Given the description of an element on the screen output the (x, y) to click on. 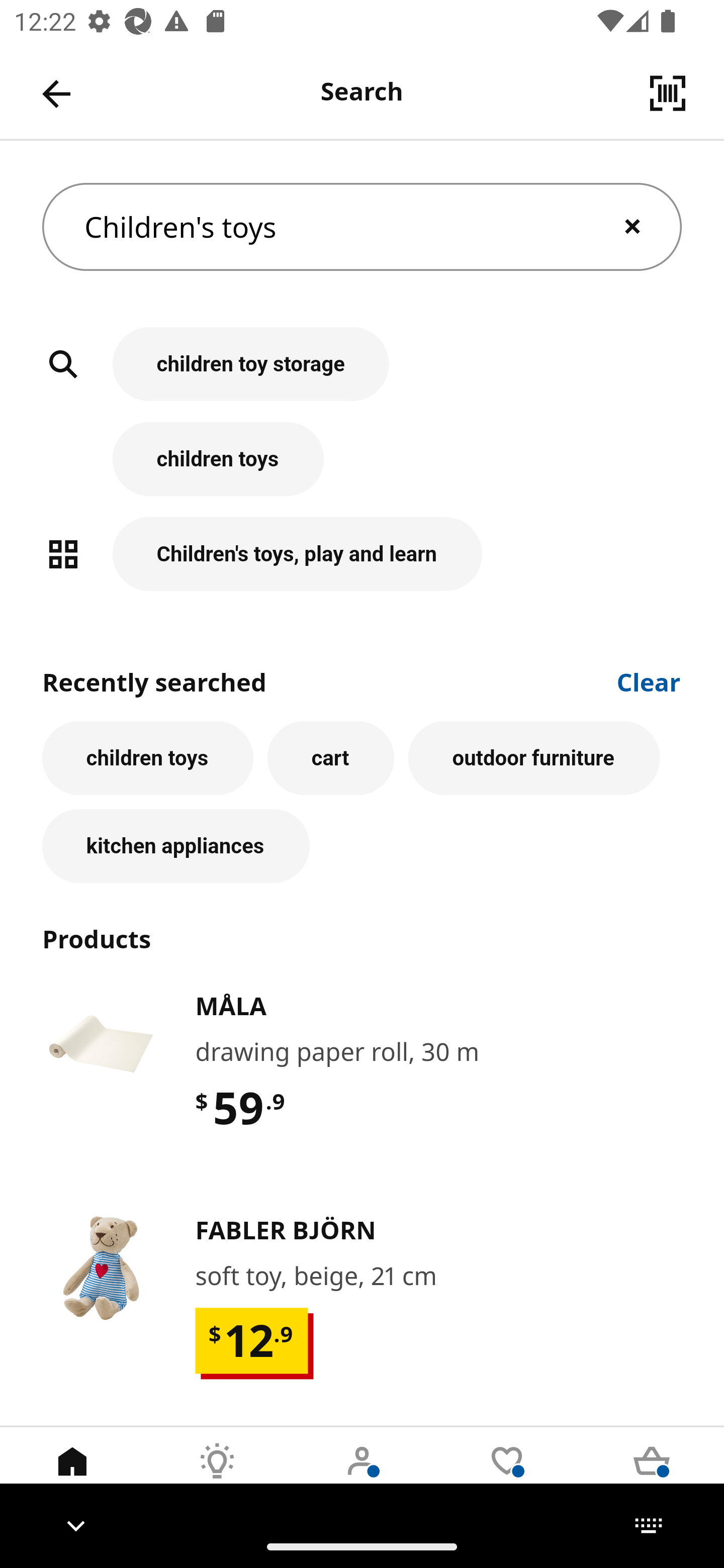
Children's toys (361, 227)
children toy storage (361, 374)
children toys (361, 469)
Children's toys, play and learn (361, 554)
Clear (649, 680)
children toys (147, 757)
cart (330, 757)
outdoor furniture (534, 757)
kitchen appliances (175, 845)
​M​Å​L​A​
drawing paper roll, 30 m
$
59
.9 (361, 1086)
Home
Tab 1 of 5 (72, 1476)
Inspirations
Tab 2 of 5 (216, 1476)
User
Tab 3 of 5 (361, 1476)
Wishlist
Tab 4 of 5 (506, 1476)
Cart
Tab 5 of 5 (651, 1476)
